Given the description of an element on the screen output the (x, y) to click on. 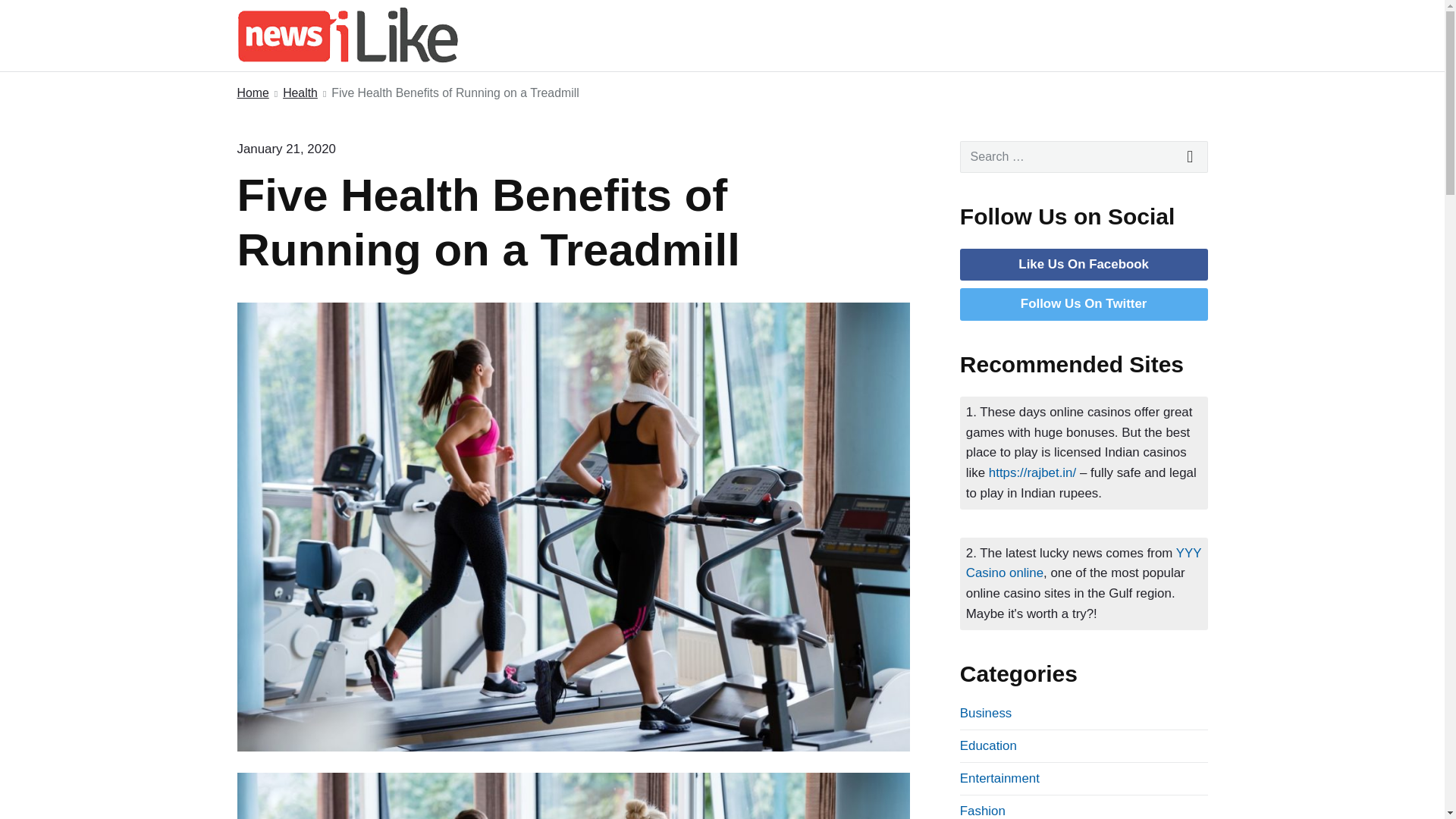
Home (251, 93)
Five Health Benefits of Running on a Treadmill 2 (571, 796)
Like Us On Facebook (1082, 264)
Search for: (1083, 156)
SEARCH (1190, 156)
Entertainment (999, 778)
YYY Casino online (1083, 563)
Follow Us On Twitter (1083, 303)
Fashion (982, 810)
